Given the description of an element on the screen output the (x, y) to click on. 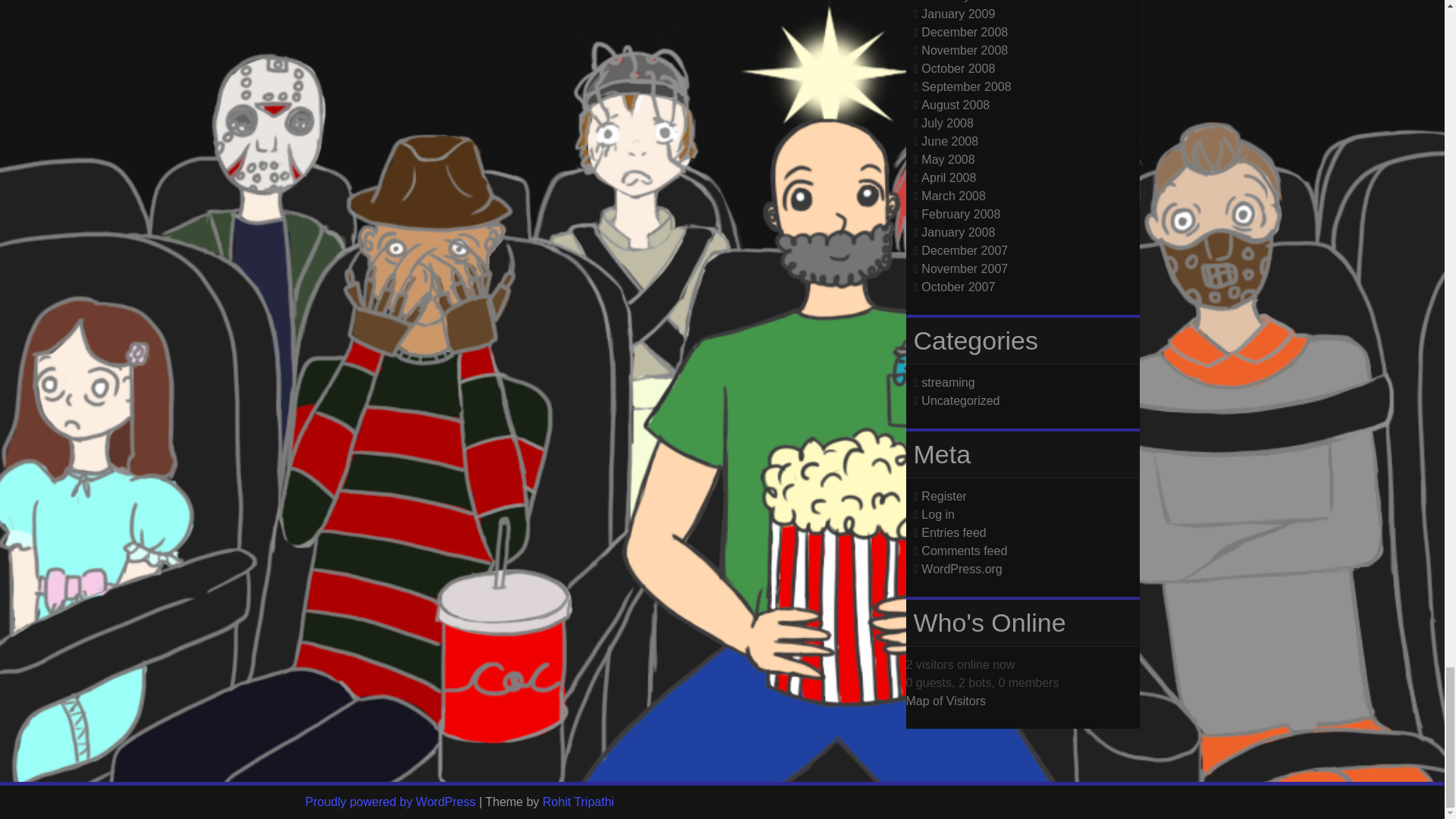
A Semantic Personal Publishing Platform (390, 801)
